Given the description of an element on the screen output the (x, y) to click on. 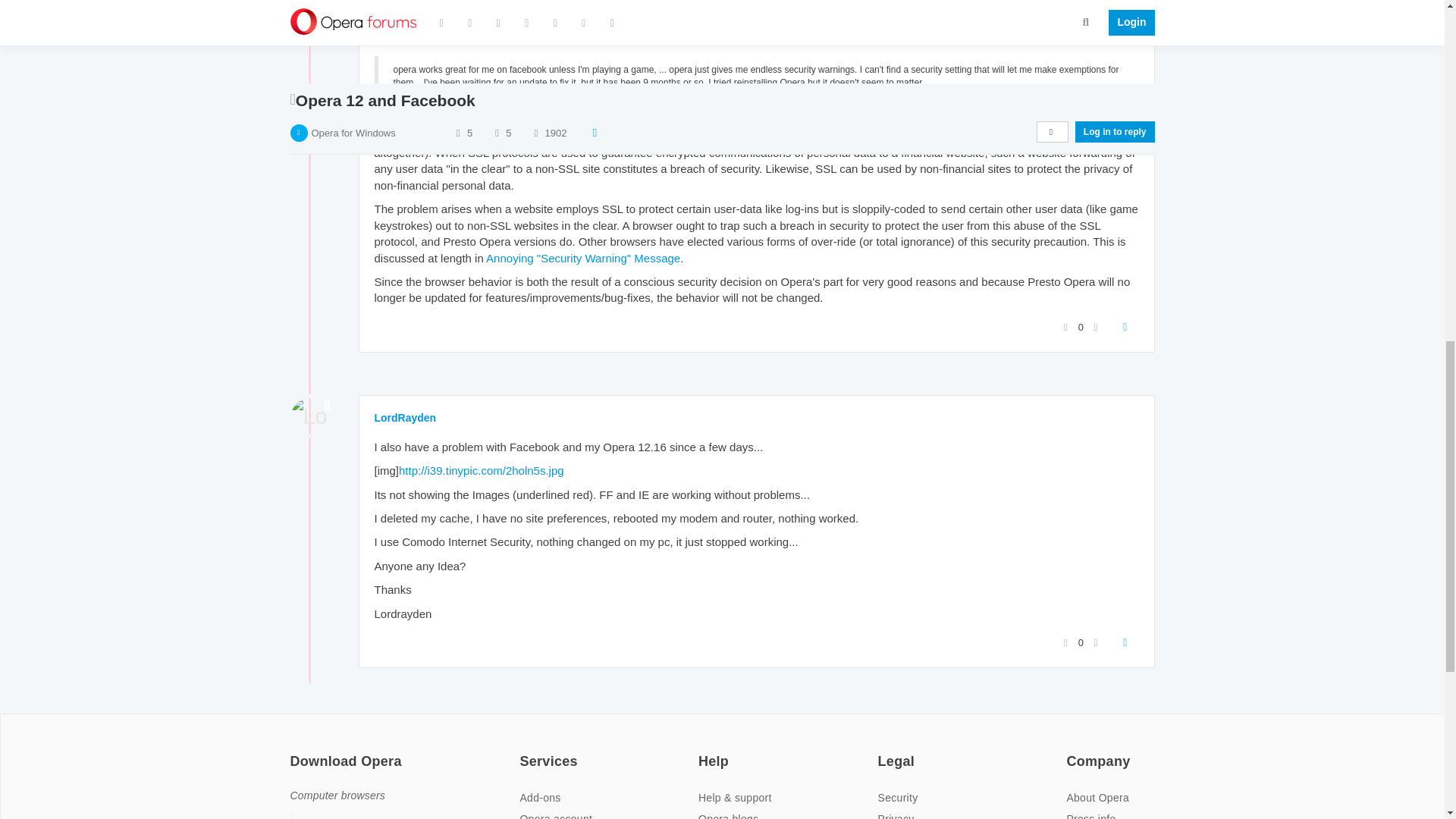
on (523, 750)
on (881, 750)
on (702, 750)
on (1070, 750)
on (293, 750)
